Given the description of an element on the screen output the (x, y) to click on. 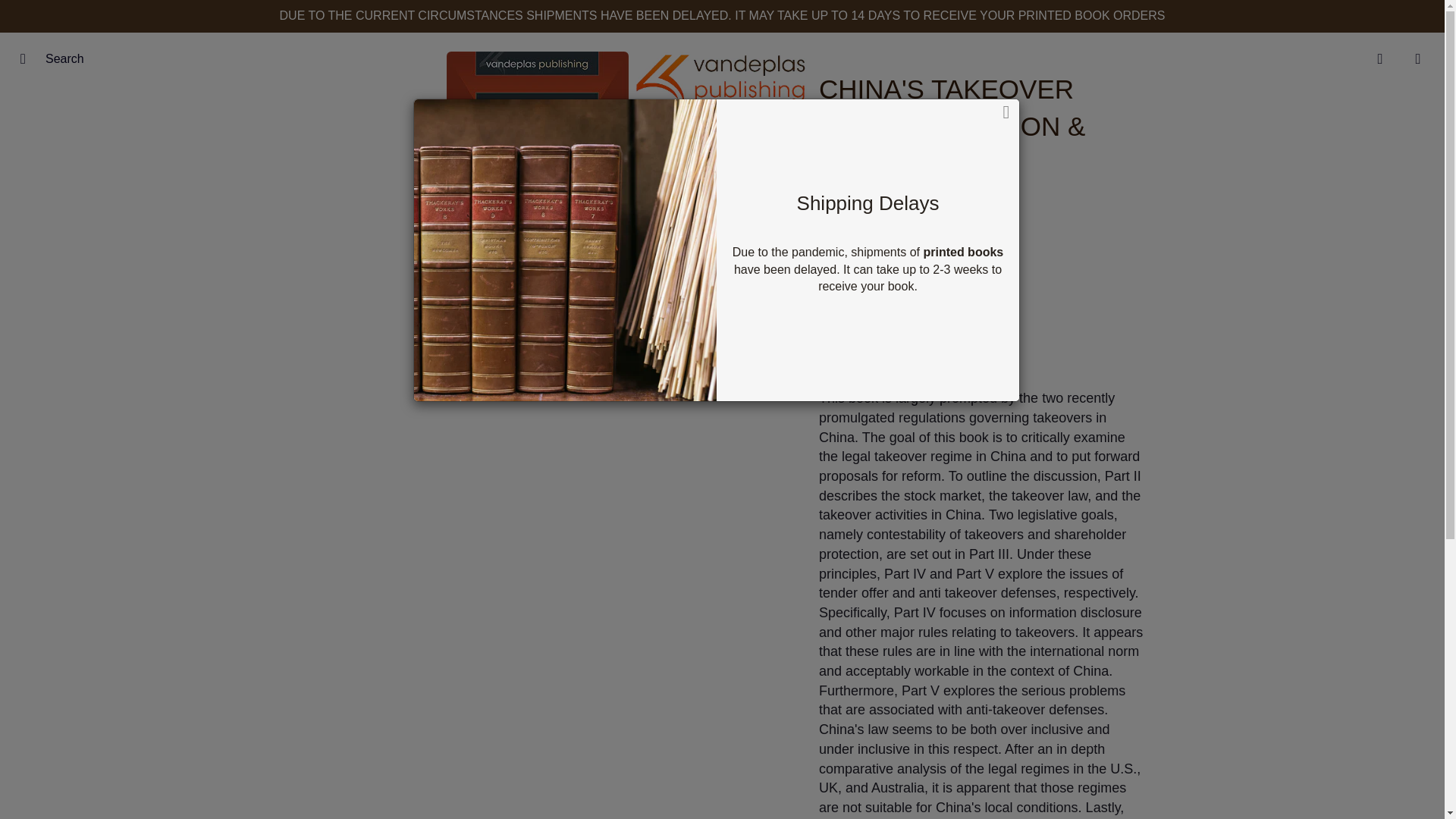
CATALOG (639, 144)
Tweet on Twitter (537, 357)
Share on Facebook (467, 357)
Search (28, 58)
HOME (534, 144)
You have 0 items in your cart (1417, 58)
Pin on Pinterest (604, 357)
My account (1379, 58)
